Given the description of an element on the screen output the (x, y) to click on. 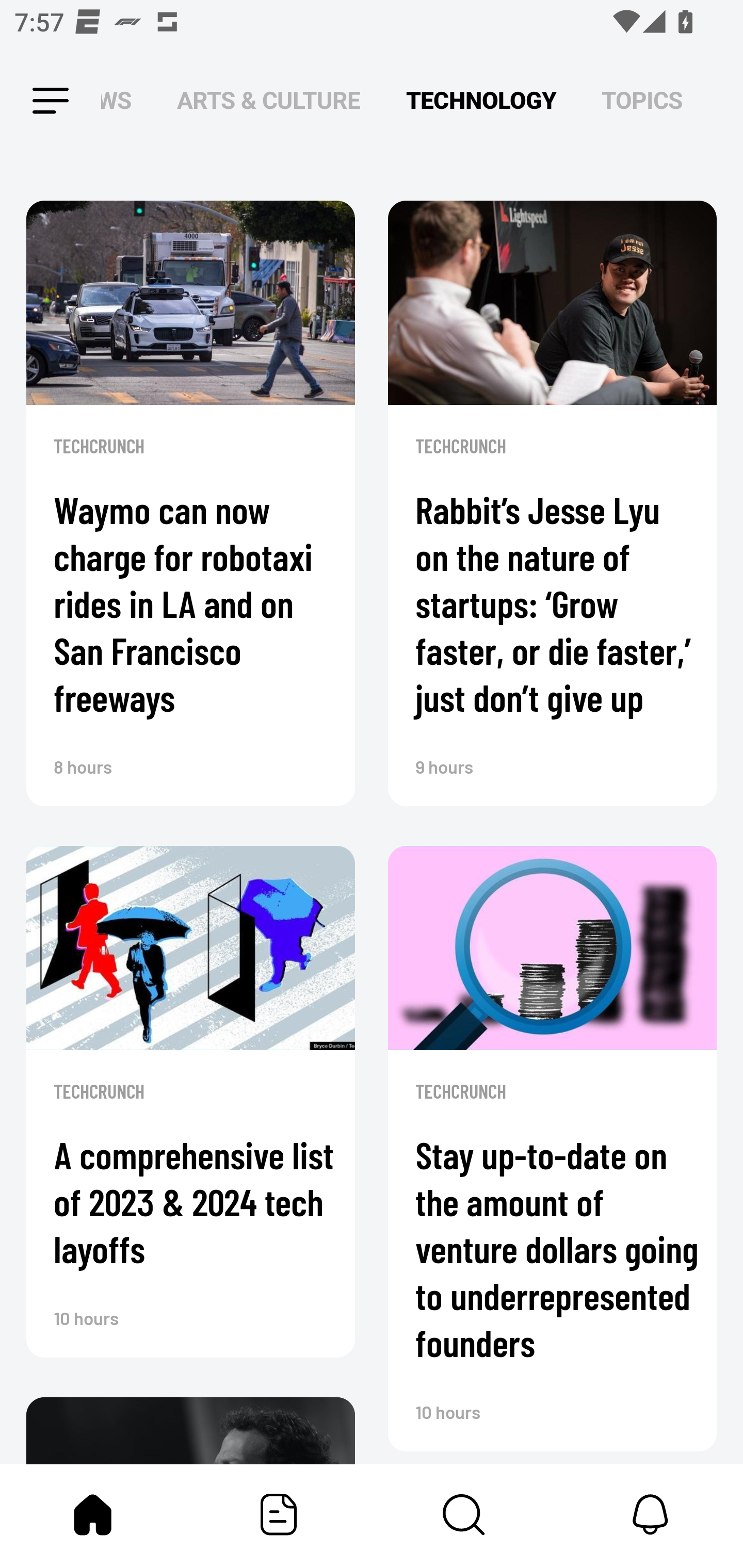
NEWS (121, 100)
ARTS & CULTURE (268, 100)
TOPICS (641, 100)
Featured (278, 1514)
Content Store (464, 1514)
Notifications (650, 1514)
